Given the description of an element on the screen output the (x, y) to click on. 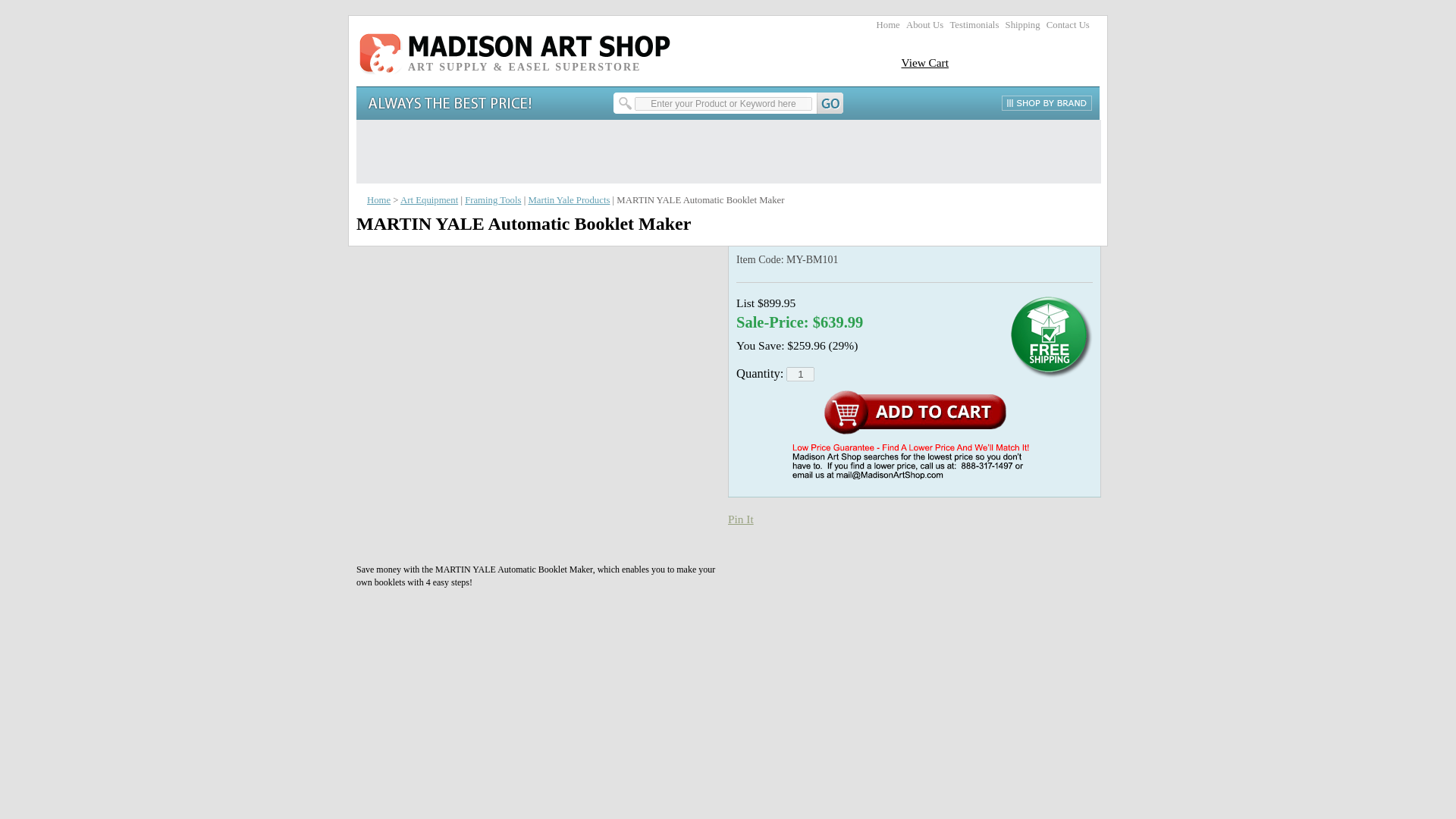
Add to cart (915, 412)
View Cart (925, 62)
Contact Us (1067, 24)
Testimonials (973, 24)
Shipping (1023, 24)
Art Equipment (429, 199)
Home (887, 24)
Framing Tools (492, 199)
Pin It (741, 518)
1 (799, 373)
